Given the description of an element on the screen output the (x, y) to click on. 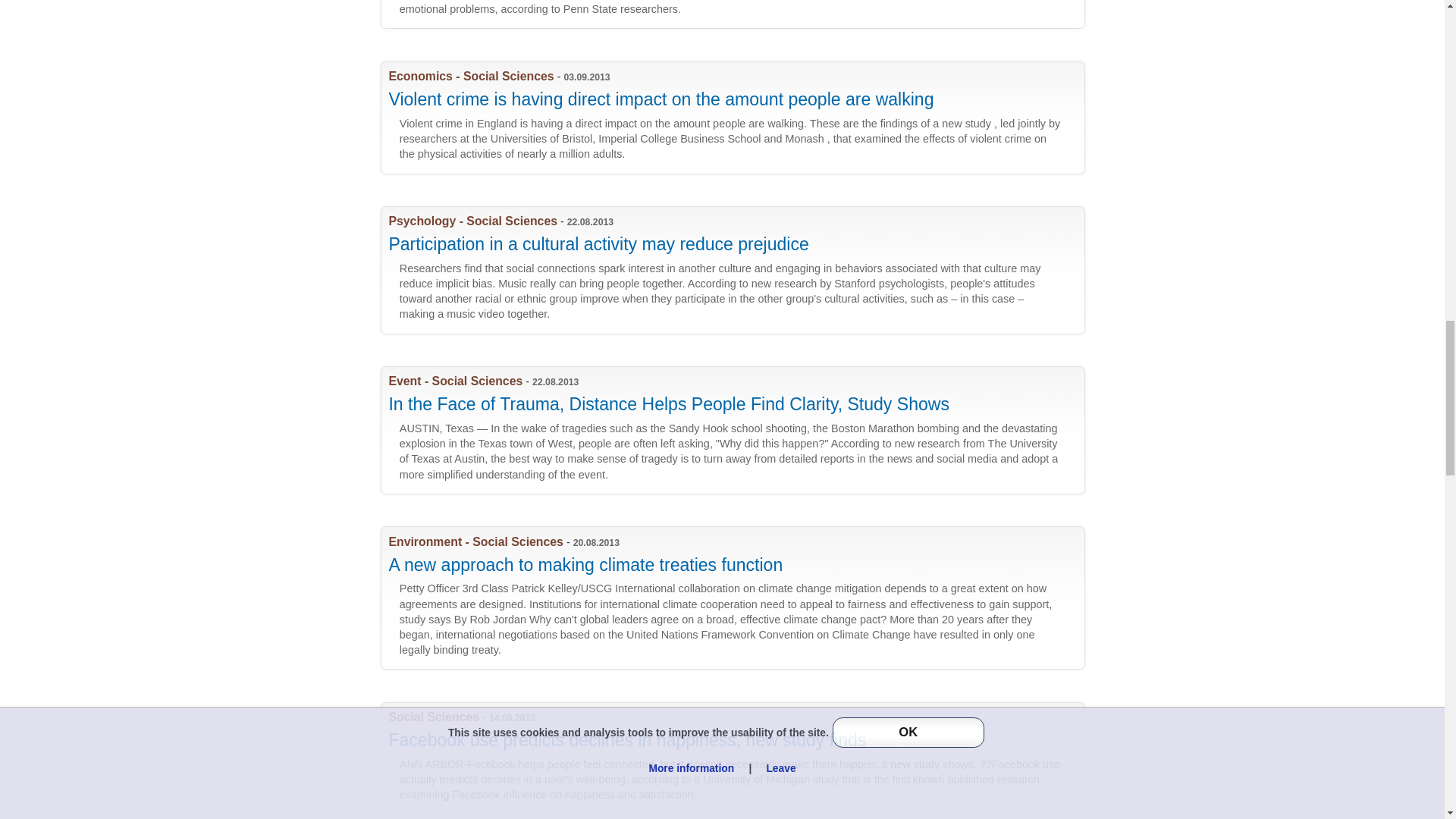
PENNSTATE (738, 14)
STANFORD (738, 270)
UTEXAS (738, 430)
BRISTOL (738, 117)
